Given the description of an element on the screen output the (x, y) to click on. 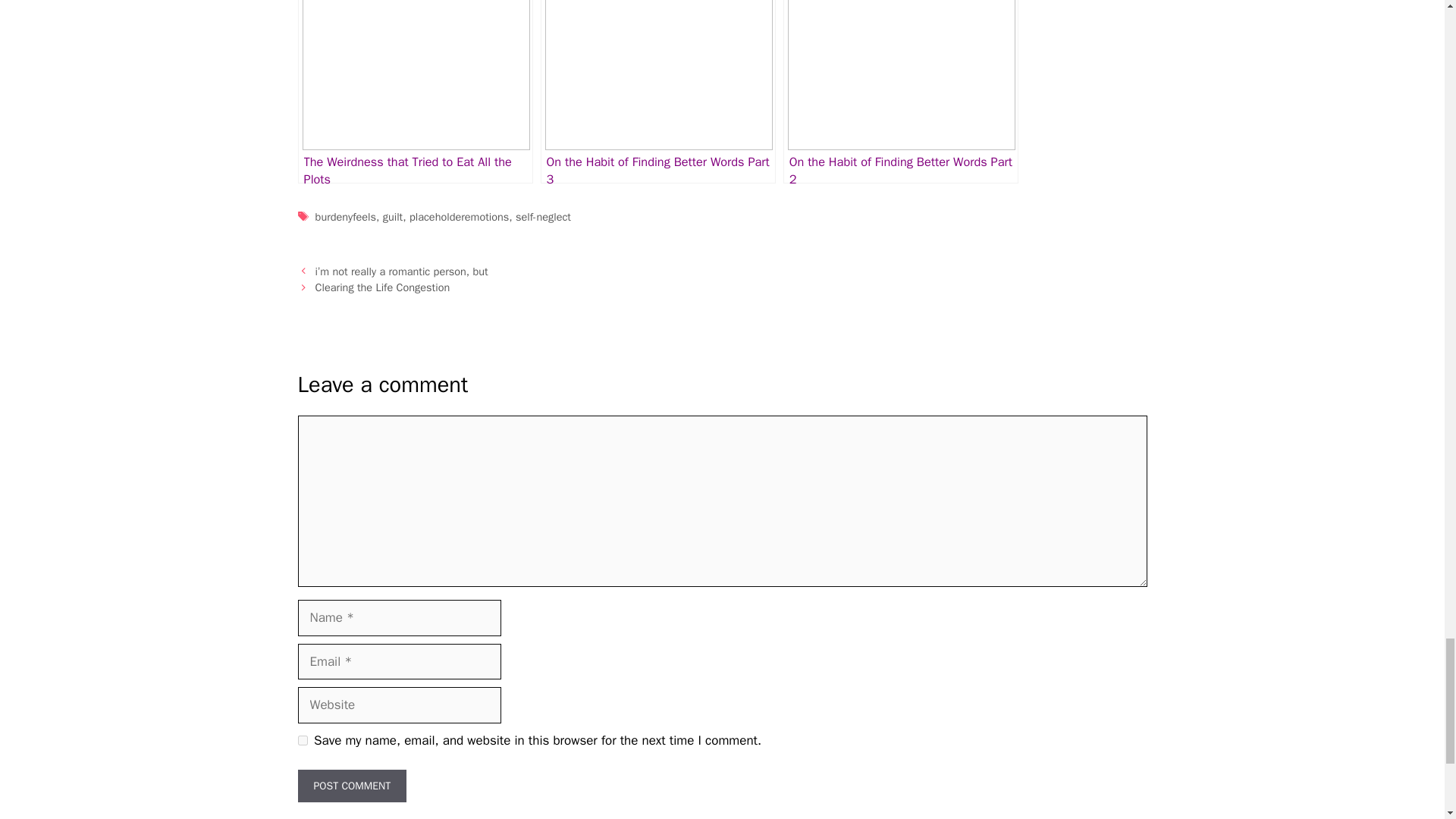
yes (302, 740)
guilt (392, 216)
Clearing the Life Congestion (382, 287)
On the Habit of Finding Better Words Part 2 (900, 91)
burdenyfeels (345, 216)
placeholderemotions (458, 216)
Post Comment (351, 785)
The Weirdness that Tried to Eat All the Plots (414, 91)
self-neglect (542, 216)
Post Comment (351, 785)
The Weirdness that Tried to Eat All the Plots (414, 91)
On the Habit of Finding Better Words Part 2 (900, 91)
On the Habit of Finding Better Words Part 3 (658, 91)
On the Habit of Finding Better Words Part 3 (658, 91)
